Given the description of an element on the screen output the (x, y) to click on. 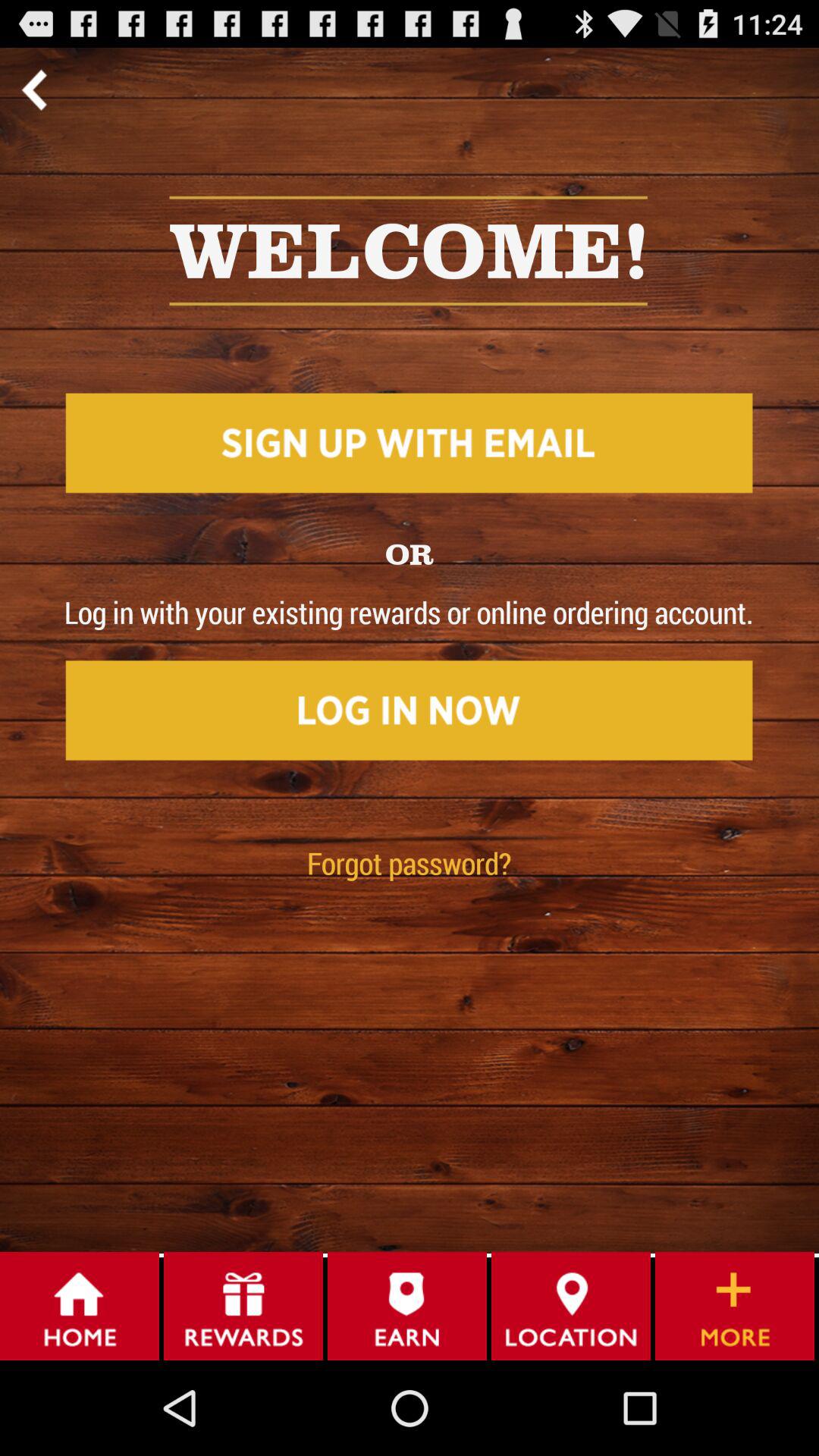
scroll until forgot password? icon (409, 862)
